Given the description of an element on the screen output the (x, y) to click on. 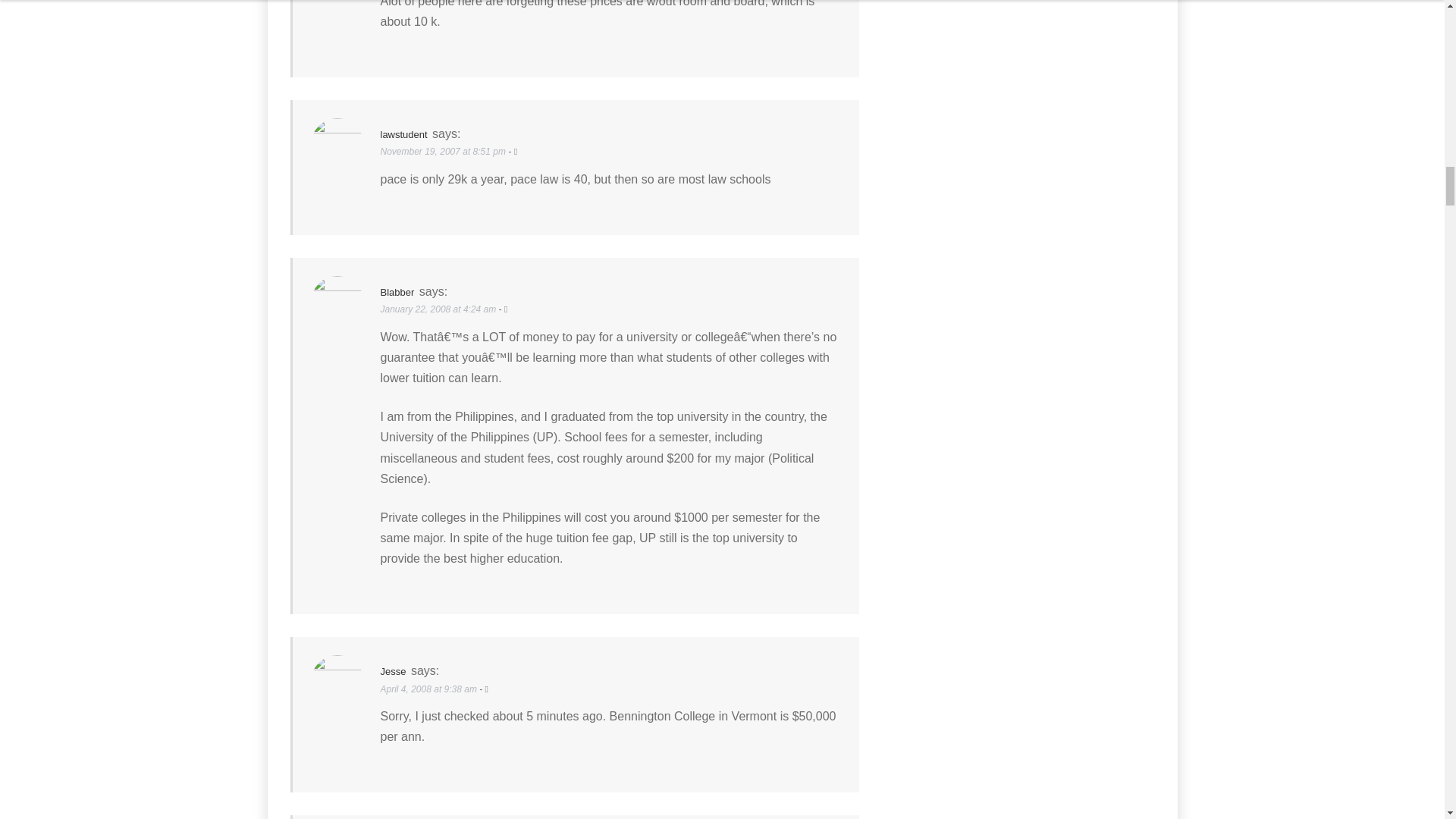
January 22, 2008 at 4:24 am (439, 308)
November 19, 2007 at 8:51 pm (444, 151)
January 22, 2008 at 4:24 am (439, 308)
April 4, 2008 at 9:38 am (430, 688)
November 19, 2007 at 8:51 pm (444, 151)
